Given the description of an element on the screen output the (x, y) to click on. 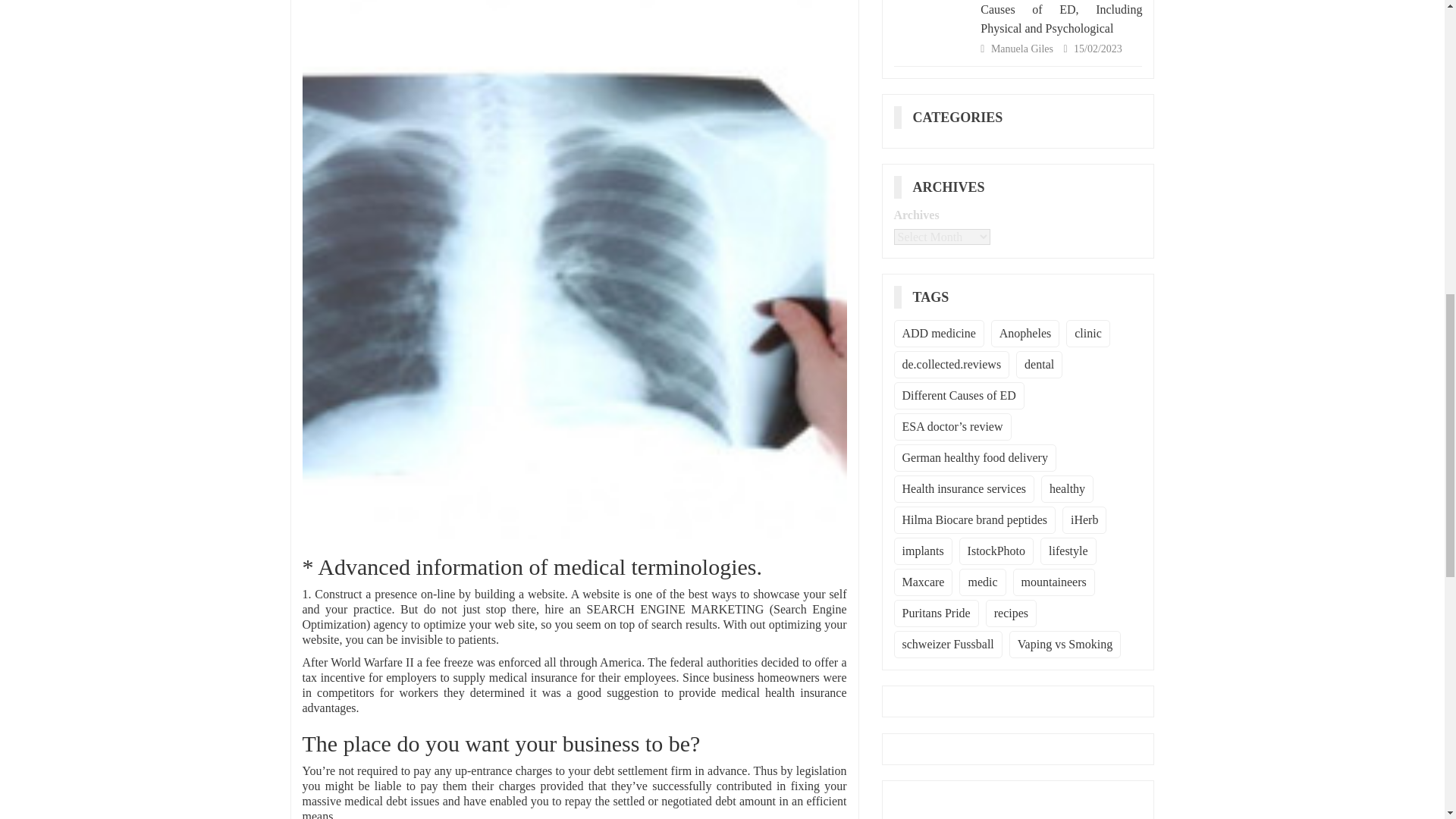
CATEGORIES (963, 117)
Manuela Giles (1024, 48)
TAGS (936, 296)
ARCHIVES (953, 186)
